Given the description of an element on the screen output the (x, y) to click on. 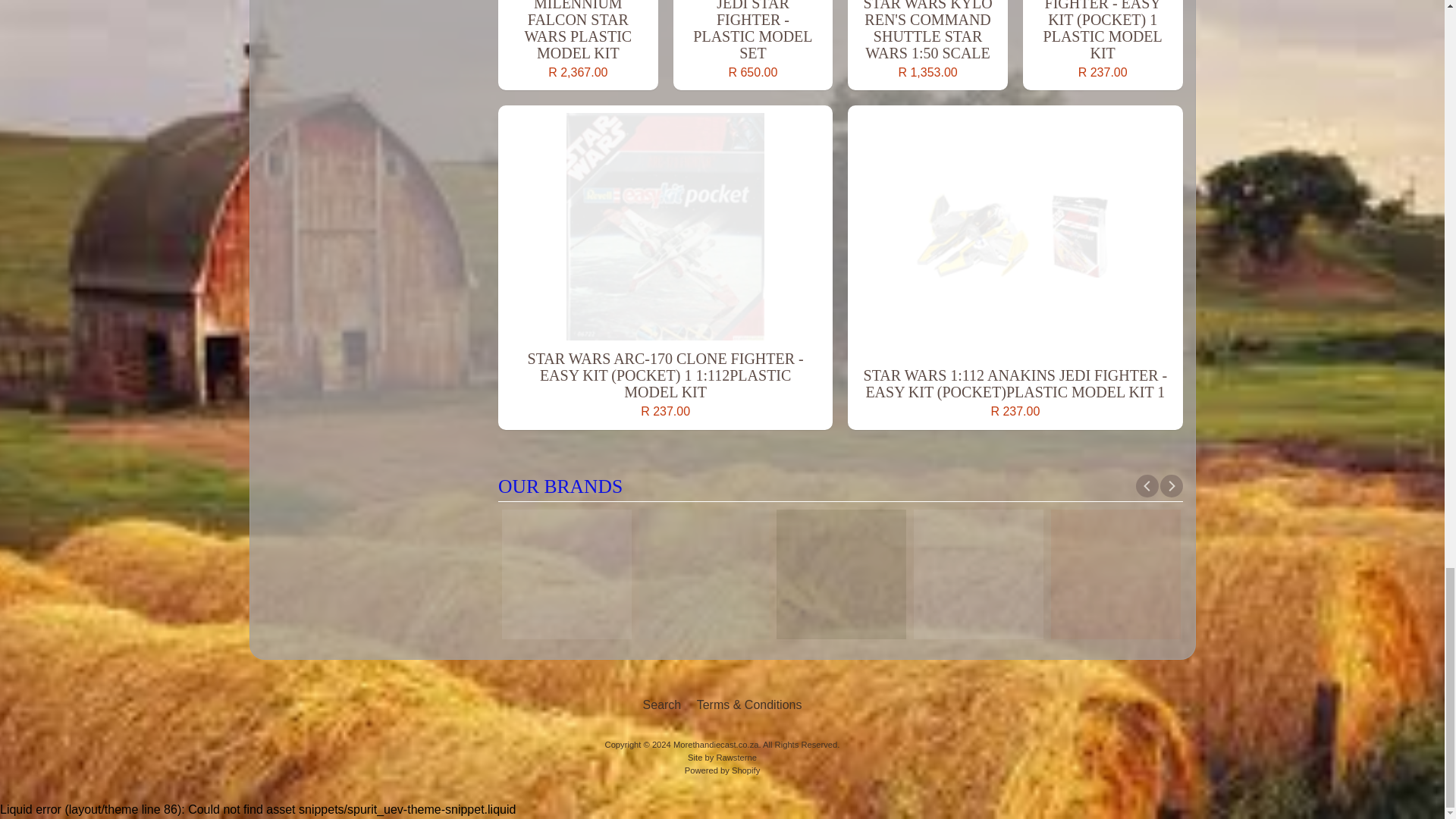
OUR BRANDS (839, 487)
